Given the description of an element on the screen output the (x, y) to click on. 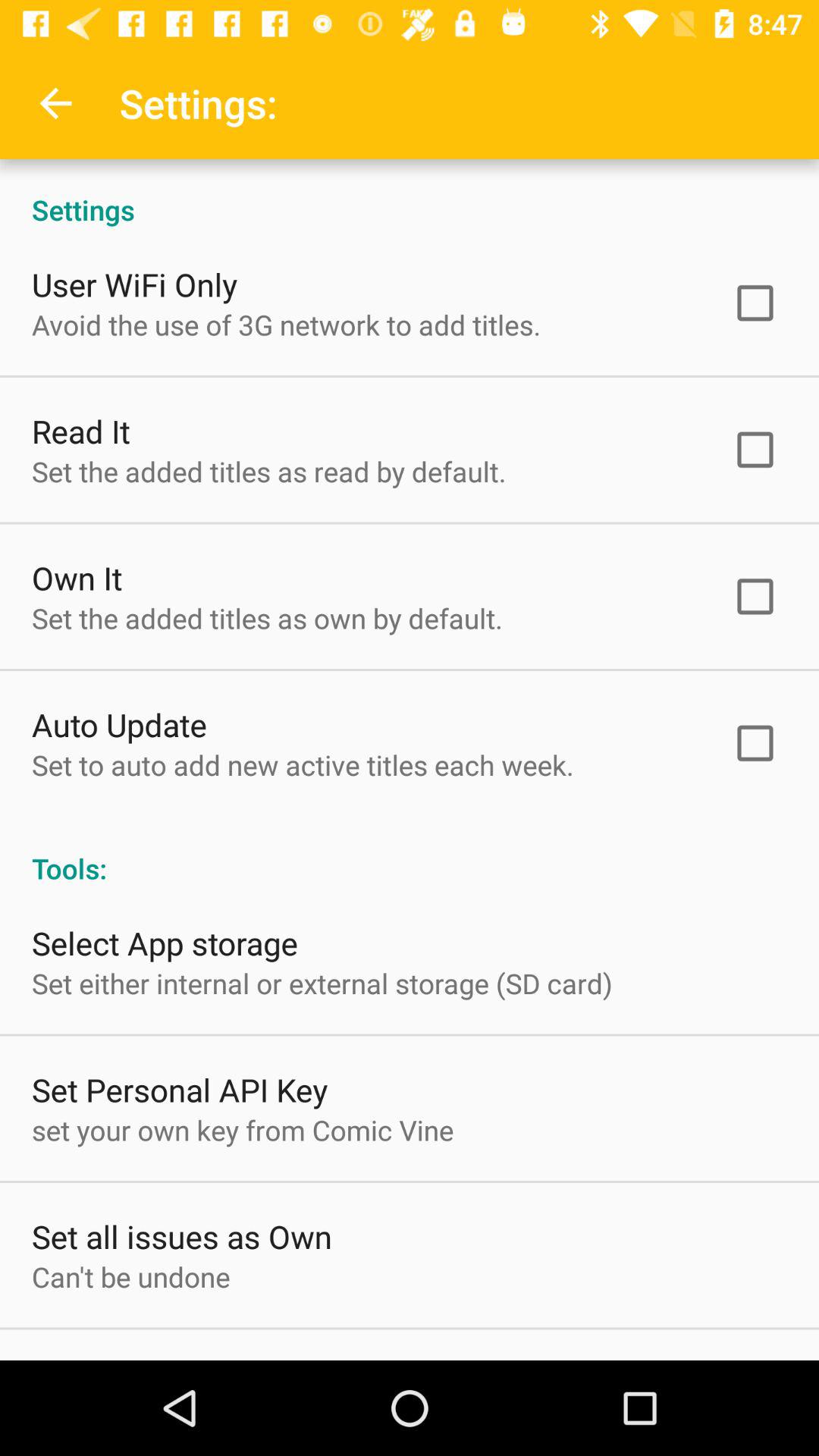
turn off the icon above the set personal api item (321, 983)
